Given the description of an element on the screen output the (x, y) to click on. 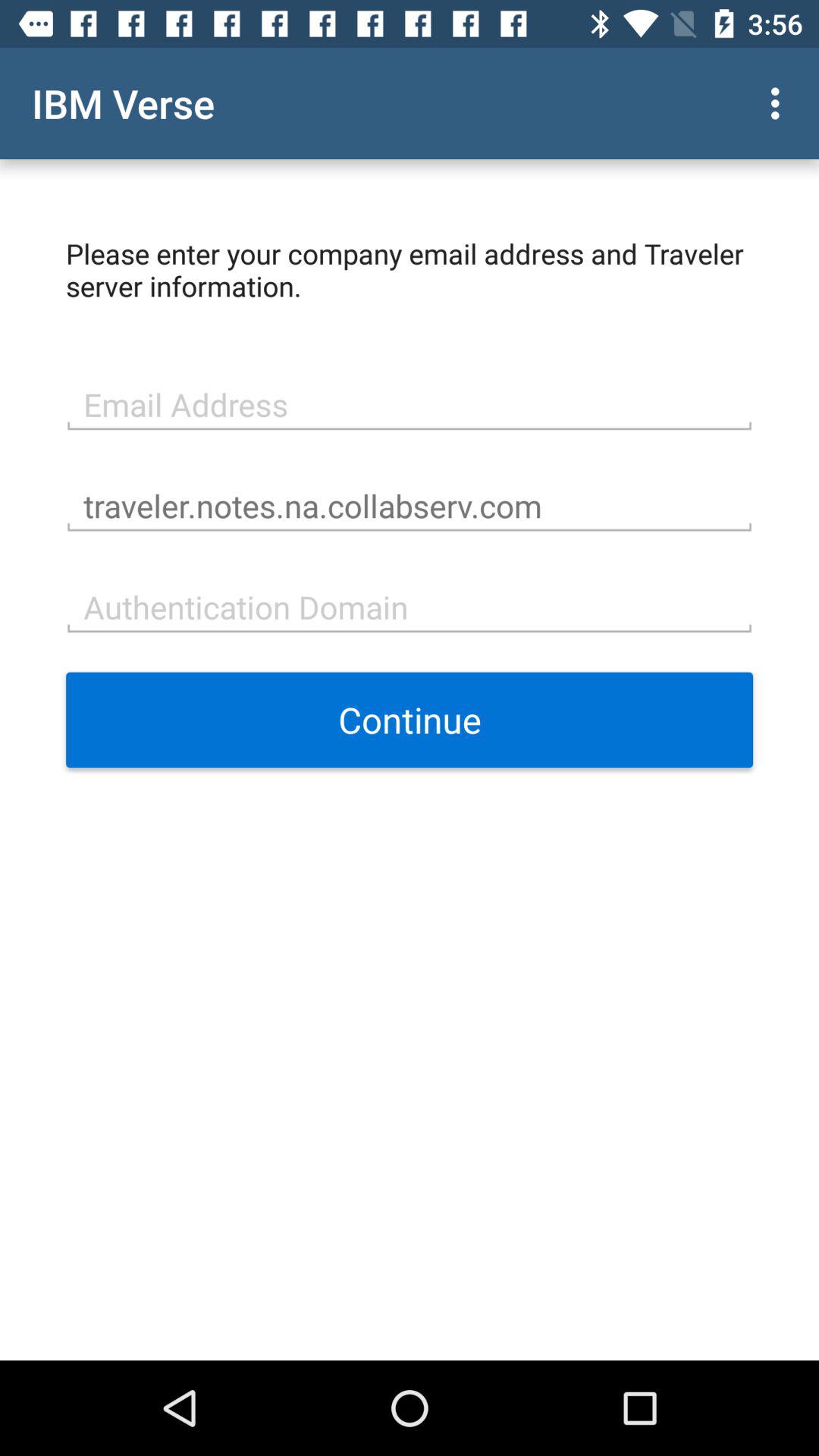
click item to the right of the ibm verse (779, 103)
